Given the description of an element on the screen output the (x, y) to click on. 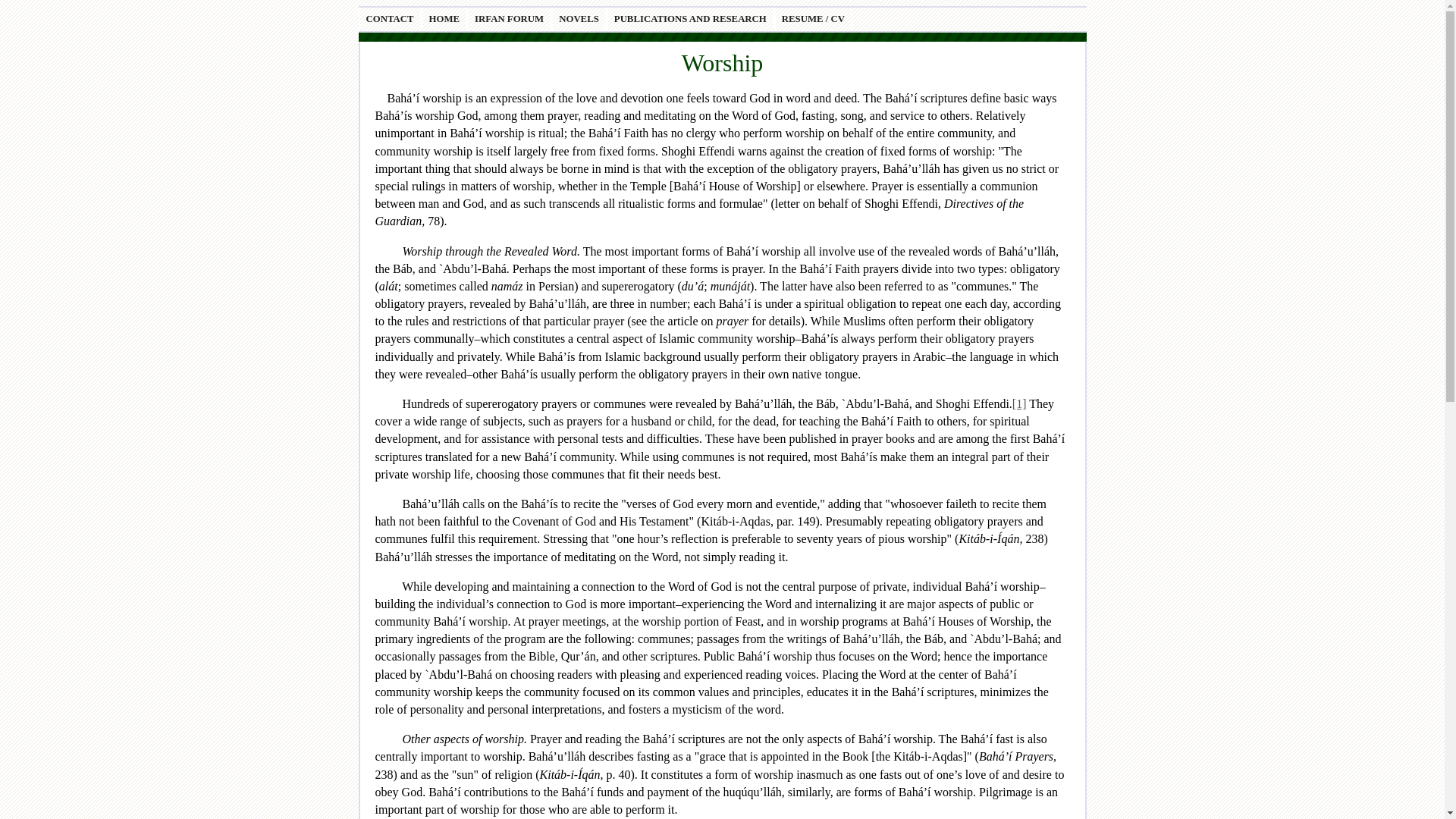
IRFAN FORUM (509, 18)
NOVELS (579, 18)
CONTACT (389, 18)
PUBLICATIONS AND RESEARCH (690, 18)
HOME (444, 18)
